Given the description of an element on the screen output the (x, y) to click on. 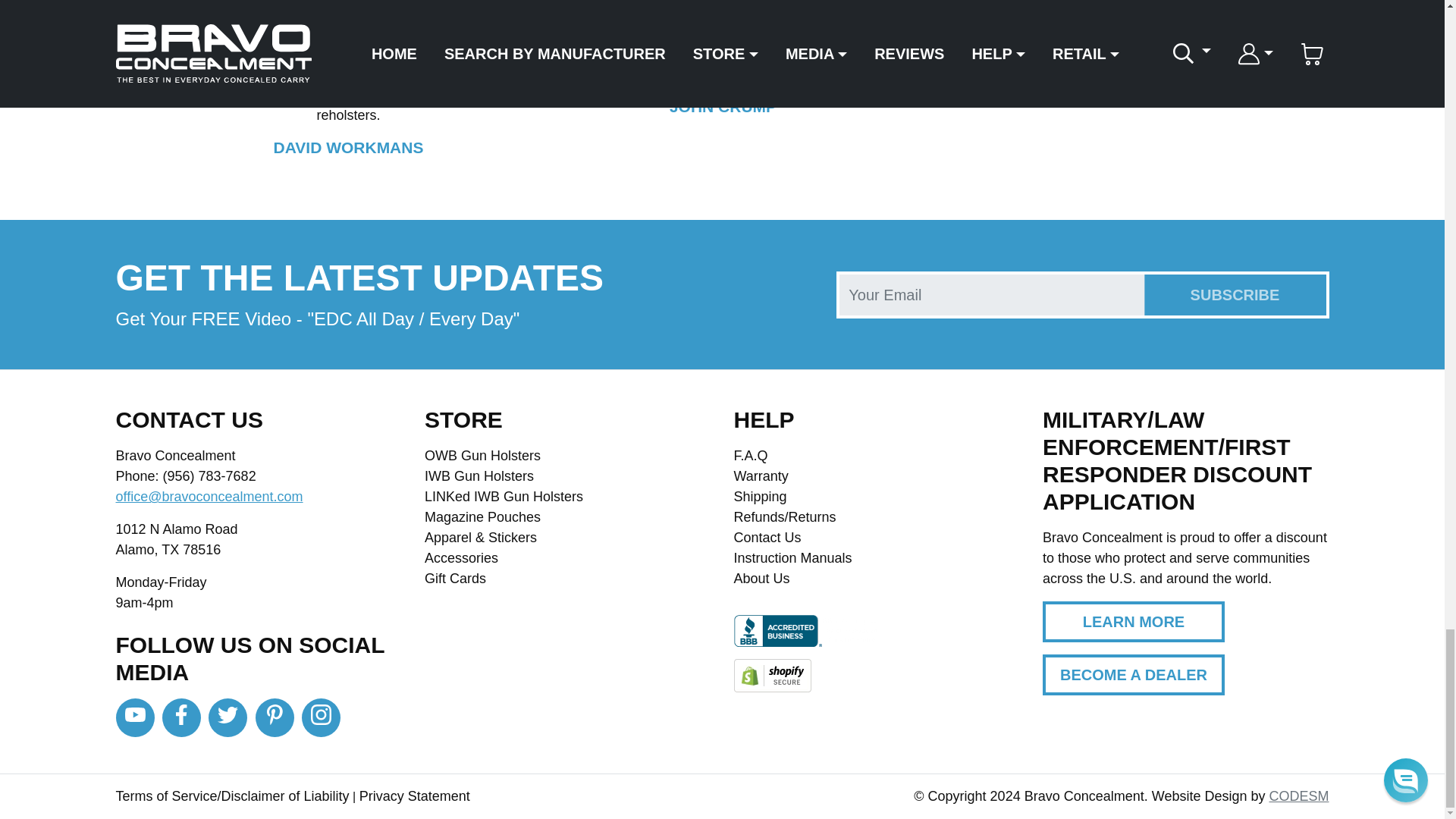
Bravo Concealment on Pinterest (275, 717)
This online store is secured by Shopify (771, 675)
Bravo Concealment on Facebook (180, 717)
Bravo Concealment on Instagram (320, 717)
Bravo Concealment on Twitter (227, 717)
Bravo Concealment on YouTube (134, 717)
